Given the description of an element on the screen output the (x, y) to click on. 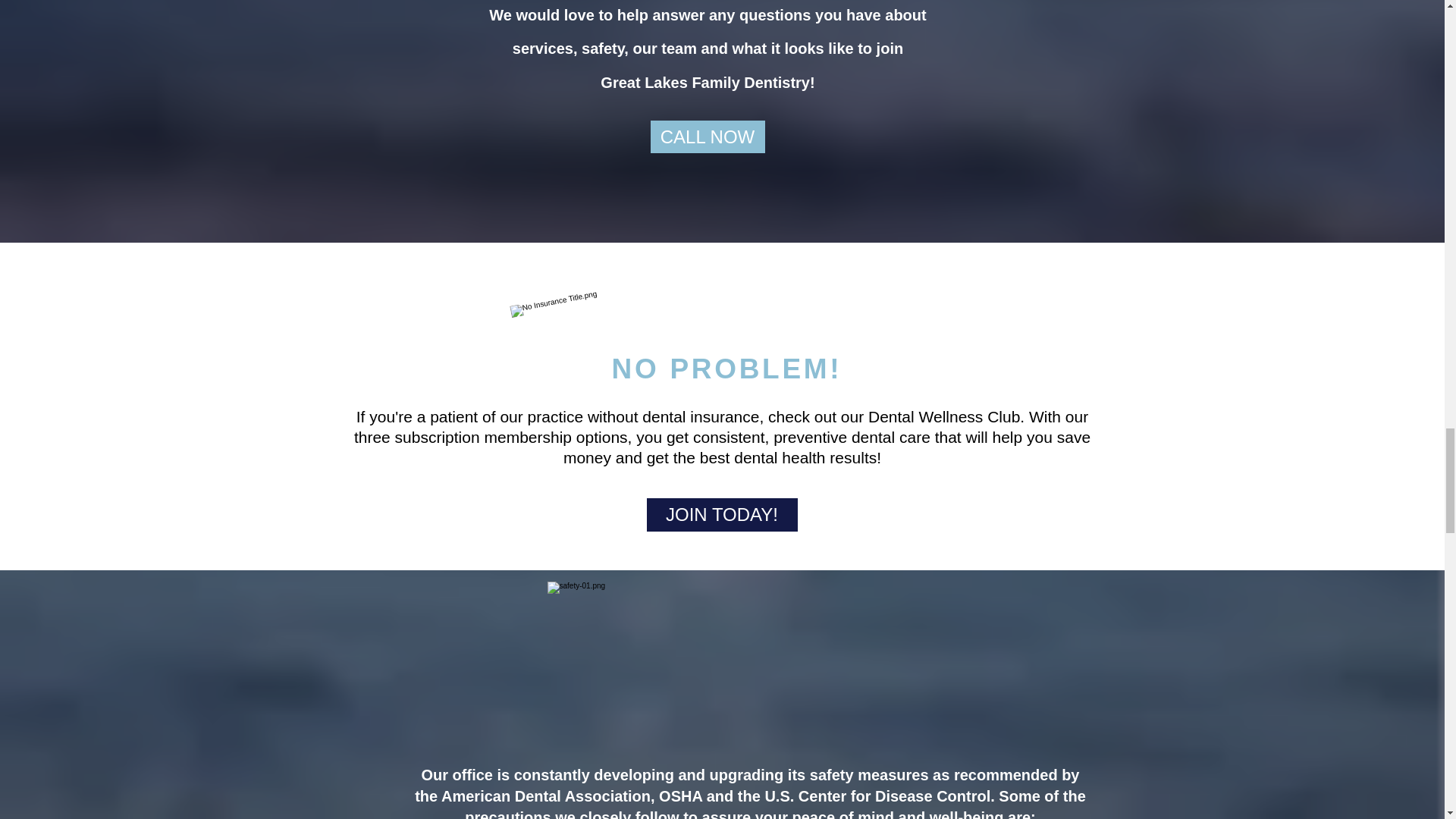
JOIN TODAY! (721, 514)
CALL NOW (707, 136)
